Given the description of an element on the screen output the (x, y) to click on. 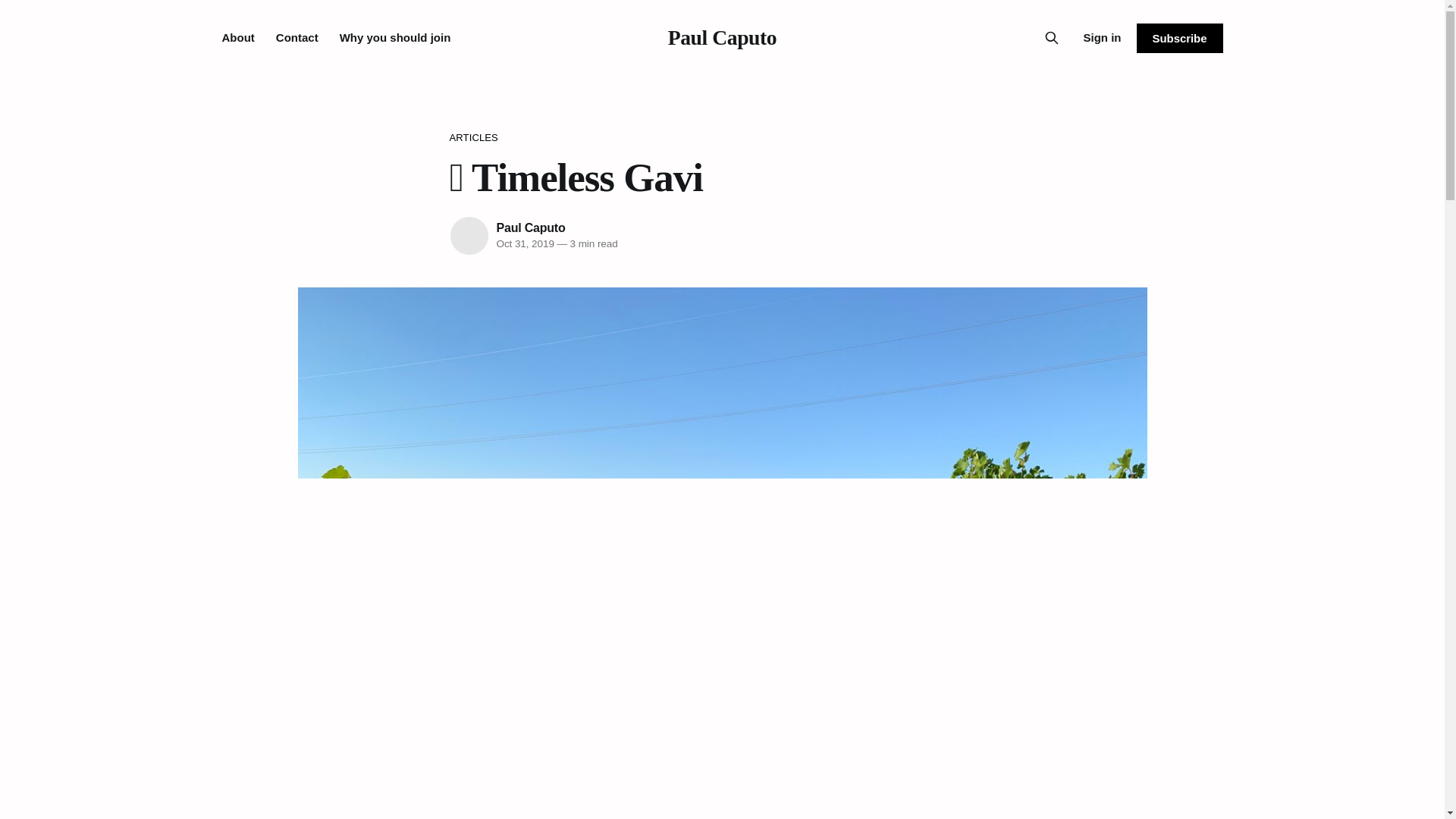
Paul Caputo (722, 37)
Contact (297, 37)
Subscribe (1179, 37)
ARTICLES (721, 138)
Sign in (1102, 37)
Paul Caputo (530, 227)
Why you should join (395, 37)
About (237, 37)
